Given the description of an element on the screen output the (x, y) to click on. 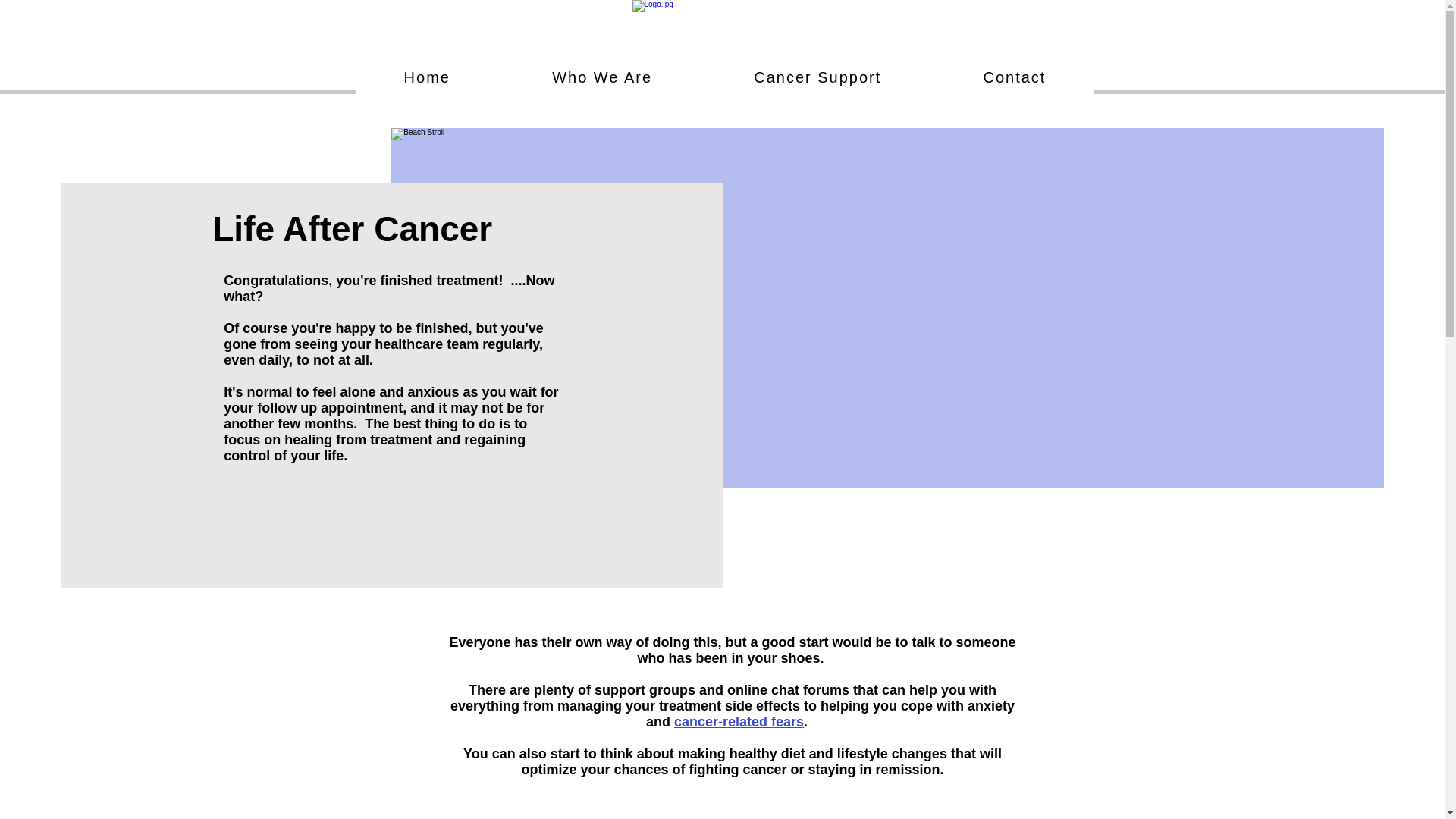
Home (427, 77)
Who We Are (601, 77)
Cancer Support (817, 77)
cancer-related fears (738, 721)
Contact (1013, 77)
